Given the description of an element on the screen output the (x, y) to click on. 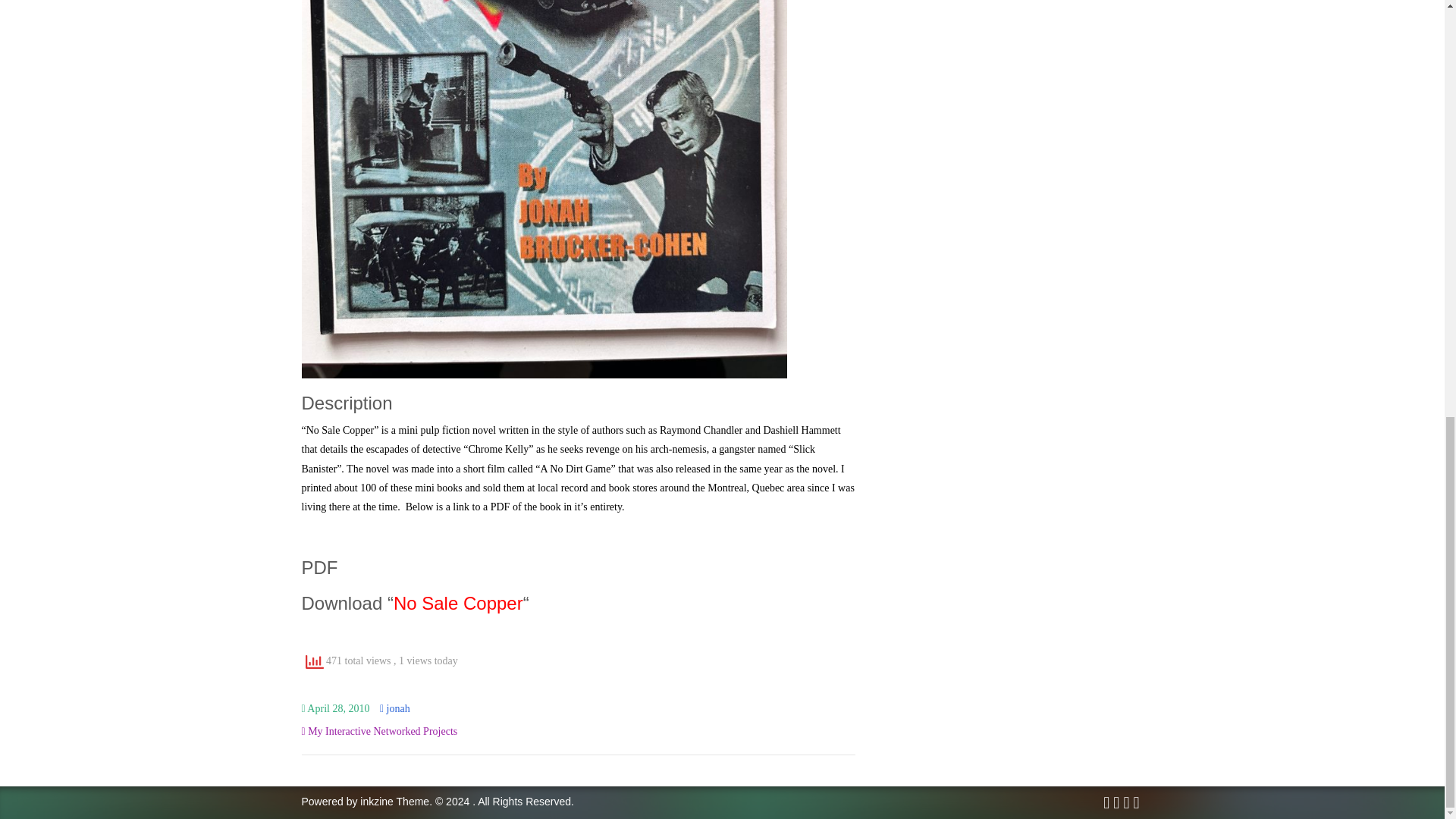
No Sale Copper (457, 602)
